Given the description of an element on the screen output the (x, y) to click on. 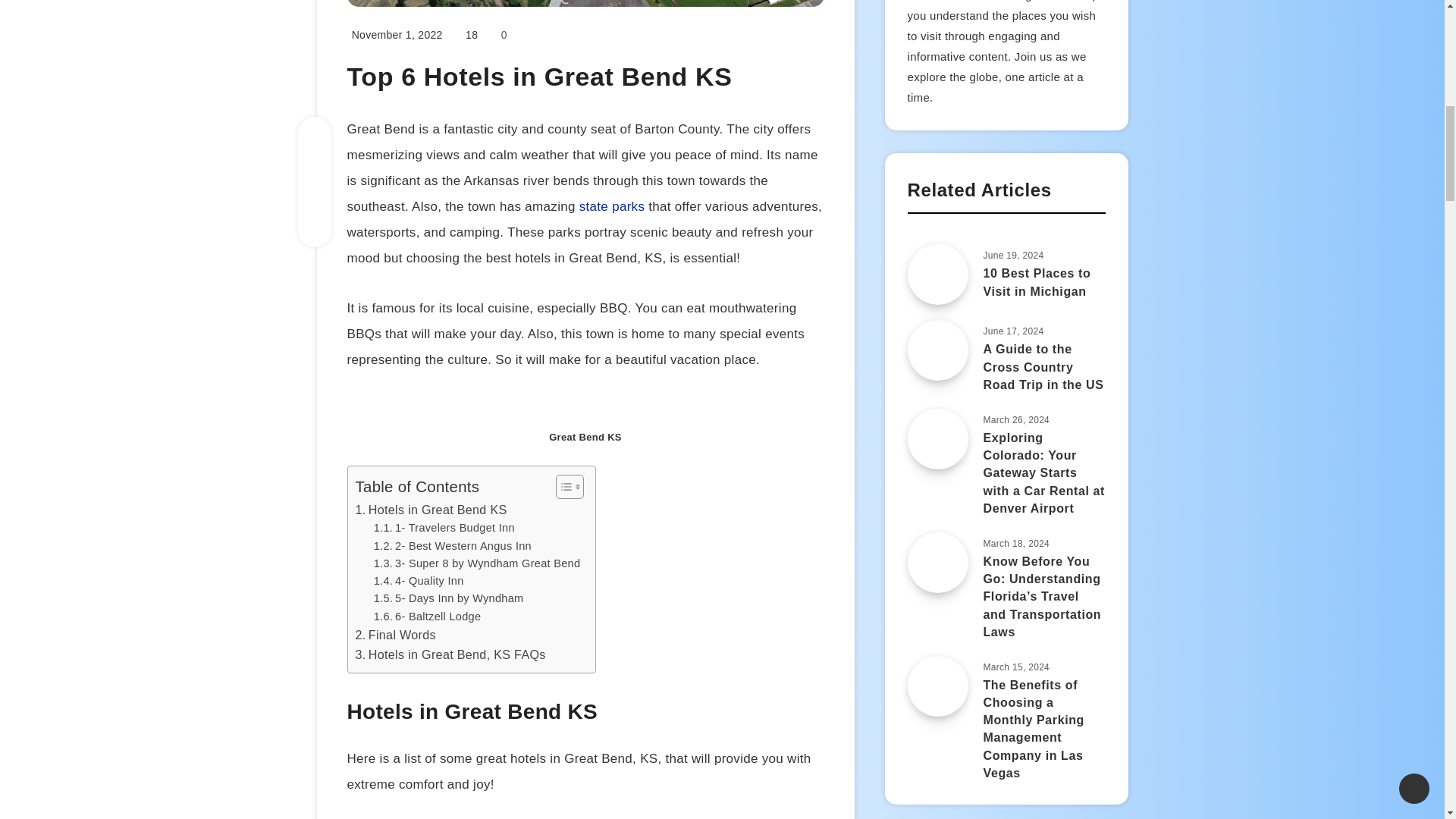
state parks (612, 206)
Views (471, 34)
2- Best Western Angus Inn (452, 546)
Final Words (395, 635)
0 (501, 34)
3- Super 8 by Wyndham Great Bend (477, 563)
2- Best Western Angus Inn (452, 546)
1- Travelers Budget Inn (444, 528)
Hotels in Great Bend, KS FAQs (449, 655)
3- Super 8 by Wyndham Great Bend (477, 563)
4- Quality Inn (419, 580)
6- Baltzell Lodge (427, 616)
Hotels in Great Bend, KS FAQs (449, 655)
4- Quality Inn (419, 580)
5- Days Inn by Wyndham (449, 598)
